Given the description of an element on the screen output the (x, y) to click on. 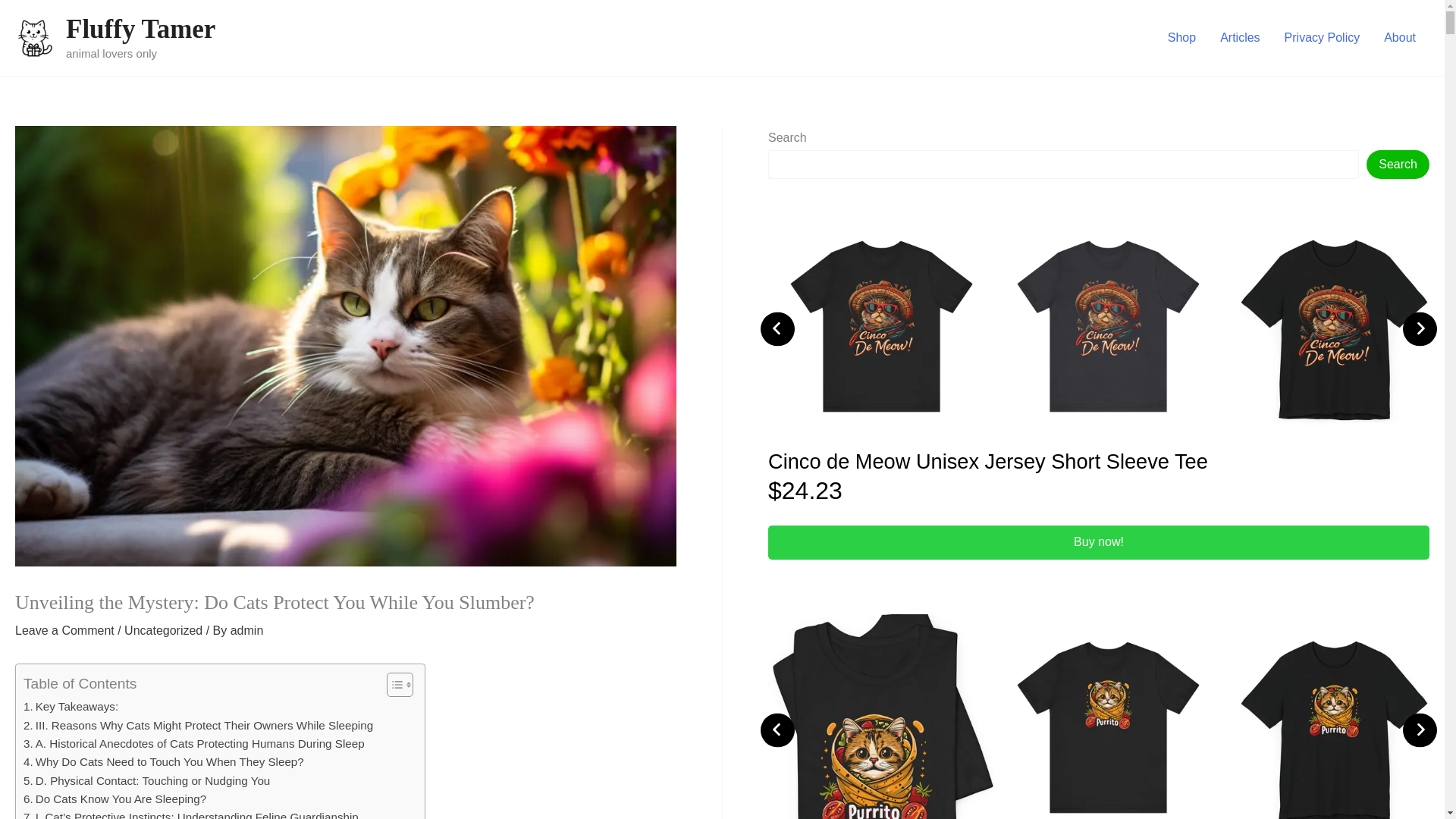
Privacy Policy (1322, 37)
Fluffy Tamer (140, 29)
admin (246, 630)
Do Cats Know You Are Sleeping? (114, 799)
D. Physical Contact: Touching or Nudging You (146, 781)
Key Takeaways: (70, 706)
Leave a Comment (64, 630)
Key Takeaways: (70, 706)
Why Do Cats Need to Touch You When They Sleep? (163, 761)
Articles (1239, 37)
D. Physical Contact: Touching or Nudging You (146, 781)
View all posts by admin (246, 630)
